Given the description of an element on the screen output the (x, y) to click on. 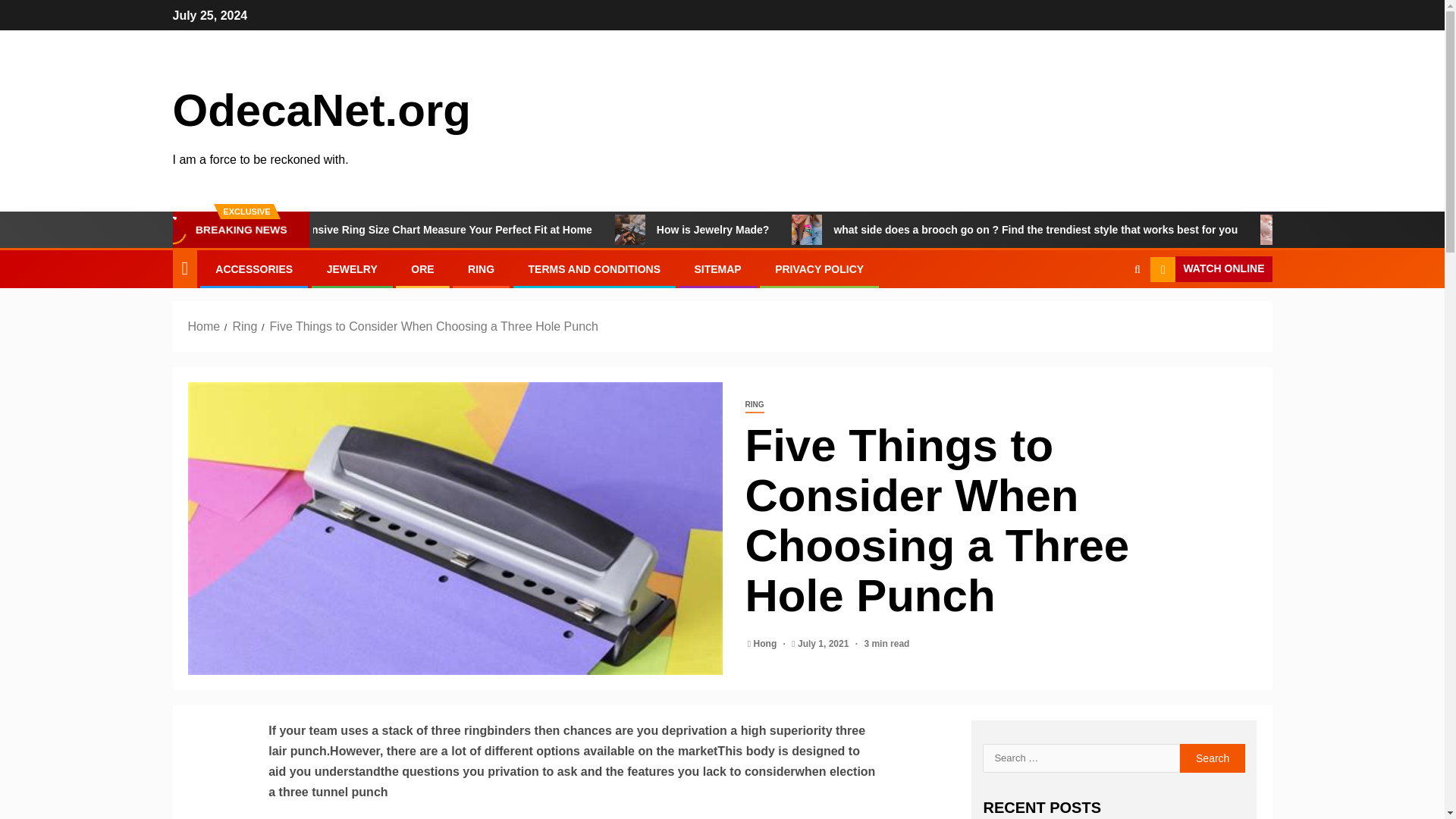
Search (1212, 758)
Hong (766, 643)
OdecaNet.org (321, 110)
SITEMAP (717, 268)
JEWELRY (351, 268)
WATCH ONLINE (1210, 268)
RING (481, 268)
ACCESSORIES (253, 268)
ORE (421, 268)
Five Things to Consider When Choosing a Three Hole Punch (433, 326)
RING (753, 405)
Search (1136, 268)
